Given the description of an element on the screen output the (x, y) to click on. 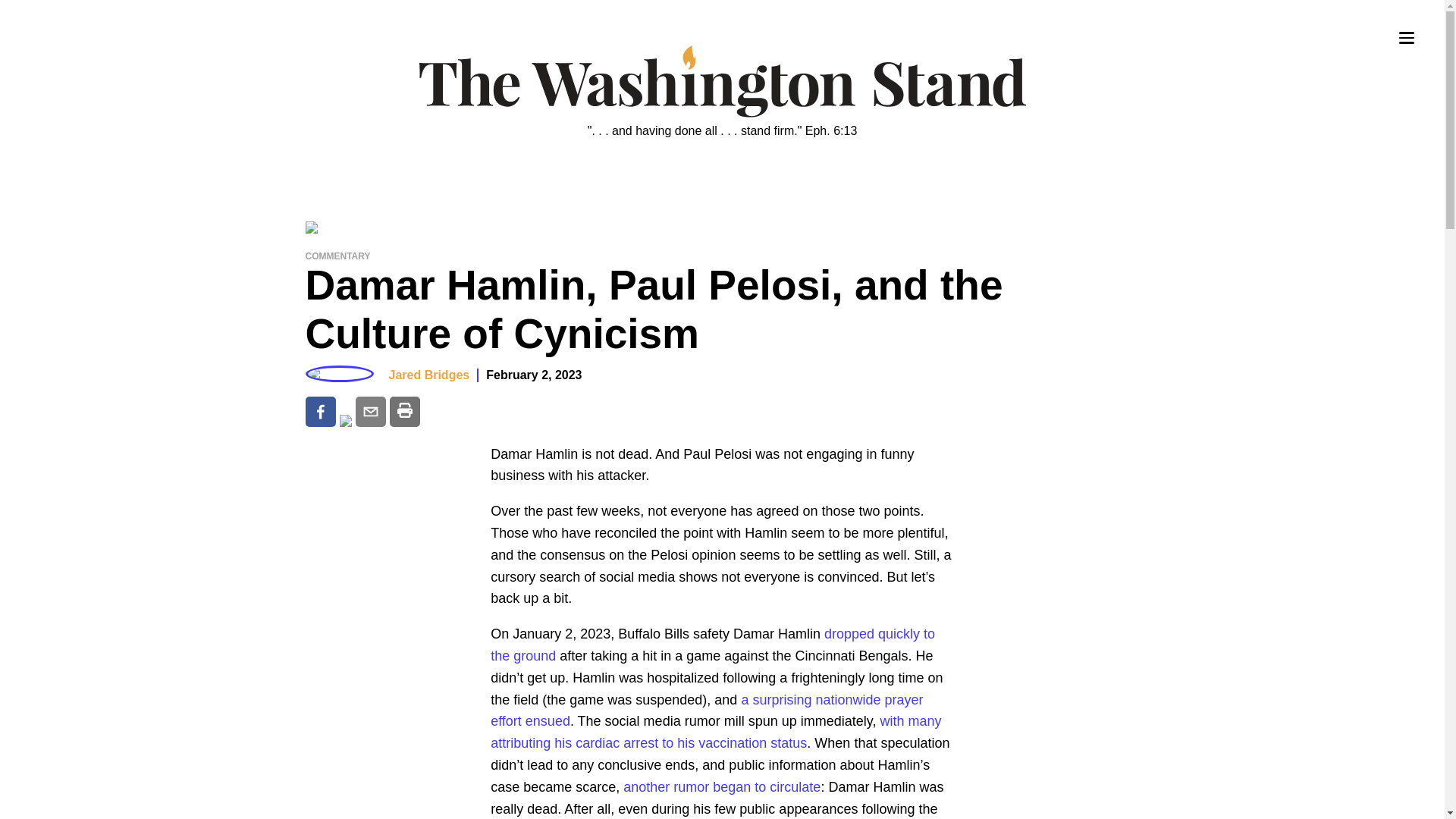
dropped quickly to the ground (712, 644)
Jared Bridges (428, 374)
a surprising nationwide prayer effort ensued (706, 710)
another rumor began to circulate (722, 786)
